Given the description of an element on the screen output the (x, y) to click on. 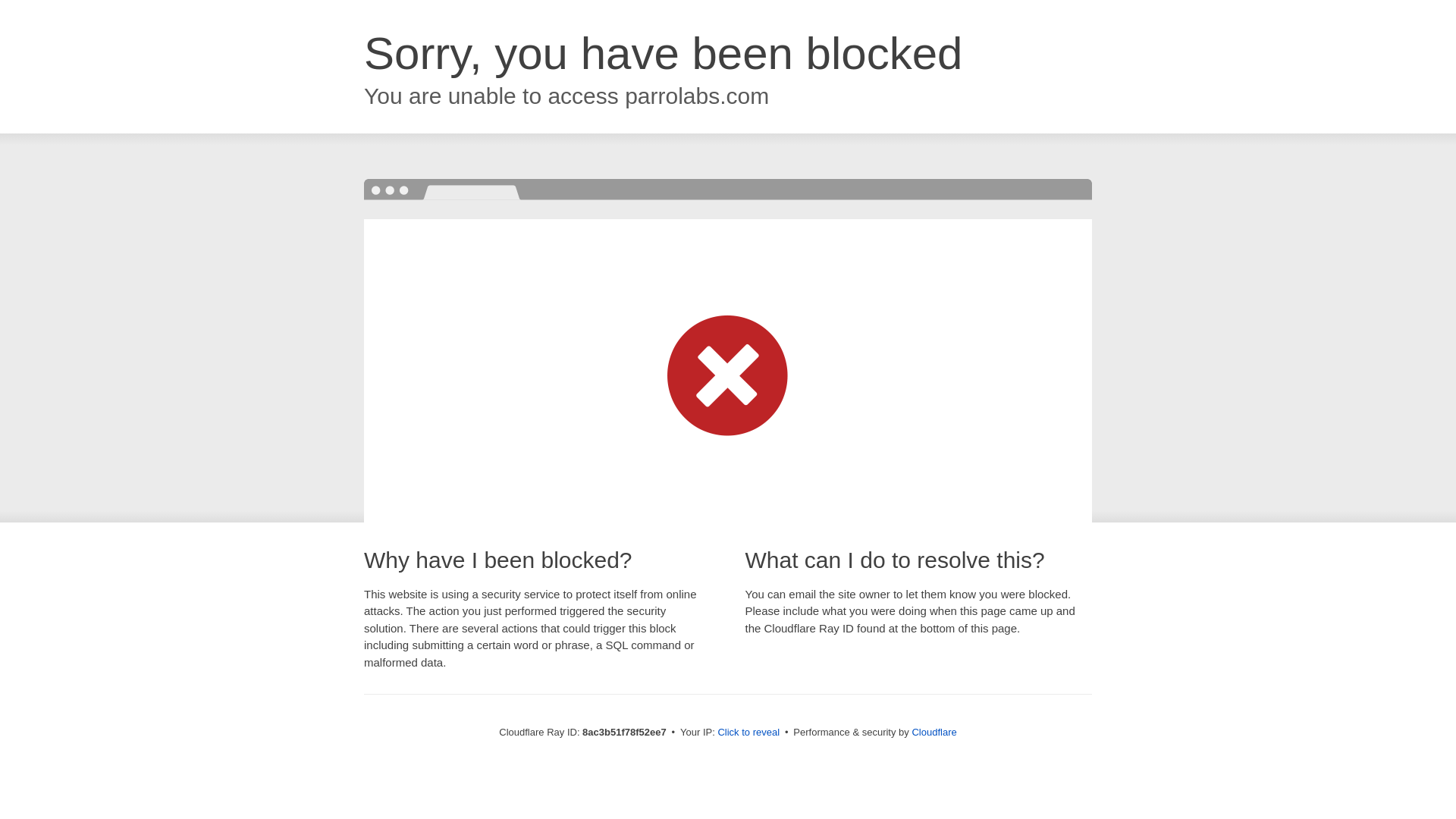
Click to reveal (747, 732)
Cloudflare (933, 731)
